Given the description of an element on the screen output the (x, y) to click on. 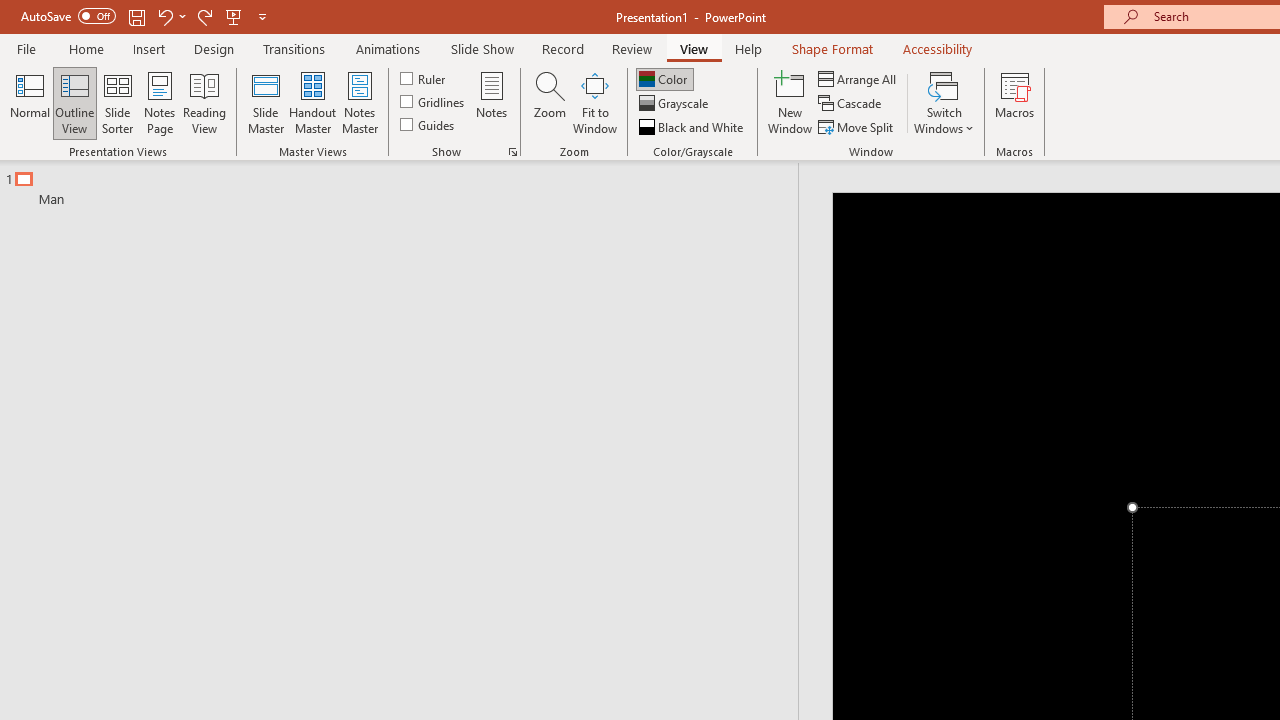
Notes Master (360, 102)
Cascade (851, 103)
Outline (408, 184)
Grayscale (675, 103)
Gridlines (433, 101)
Zoom... (549, 102)
Arrange All (858, 78)
